Given the description of an element on the screen output the (x, y) to click on. 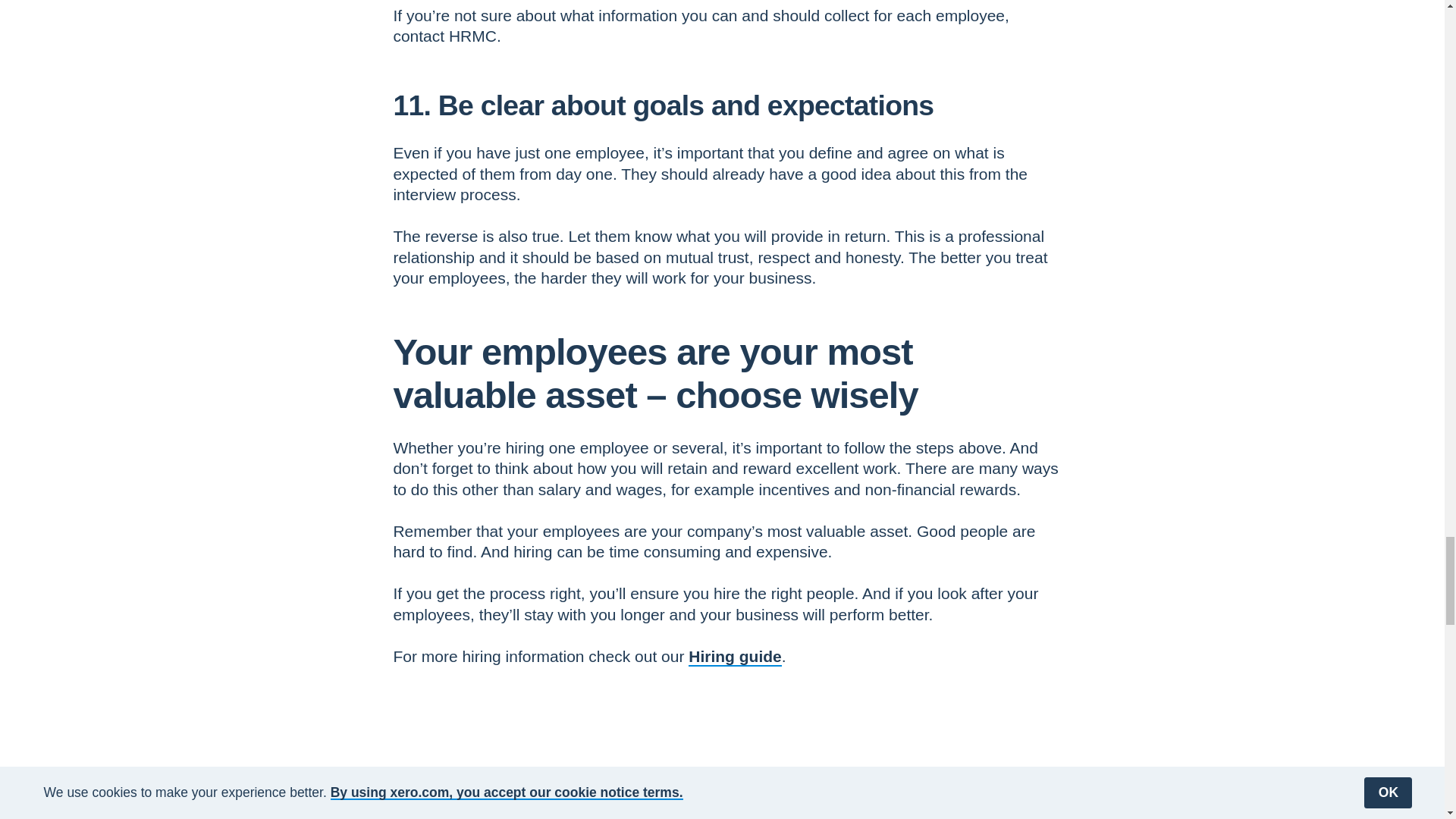
Hiring guide (734, 656)
